Given the description of an element on the screen output the (x, y) to click on. 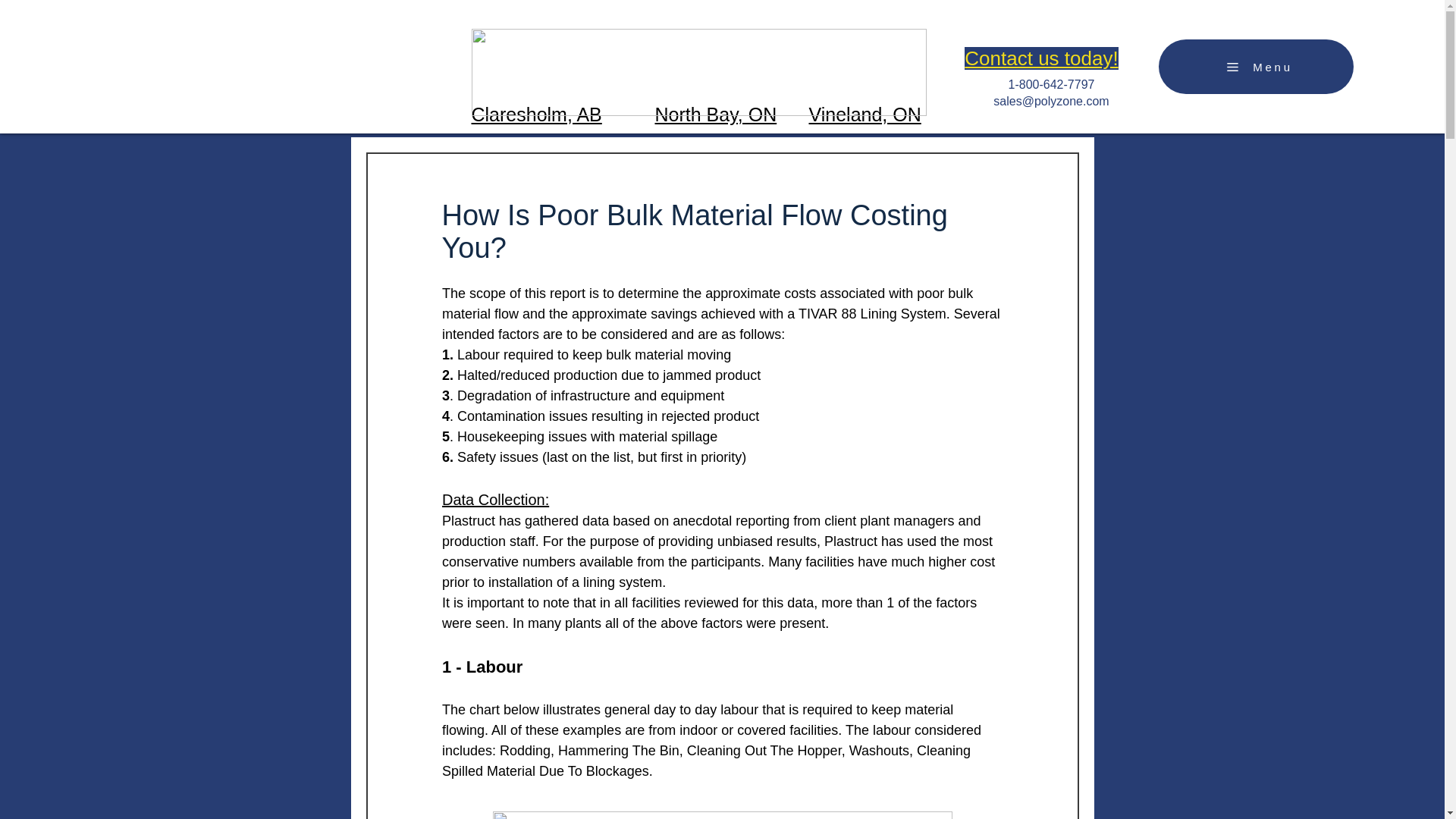
Claresholm, AB (536, 114)
Contact us today! (1040, 57)
Menu (1256, 66)
North Bay, ON (716, 114)
Vineland, ON (864, 114)
1 line logo center.png (698, 72)
